Given the description of an element on the screen output the (x, y) to click on. 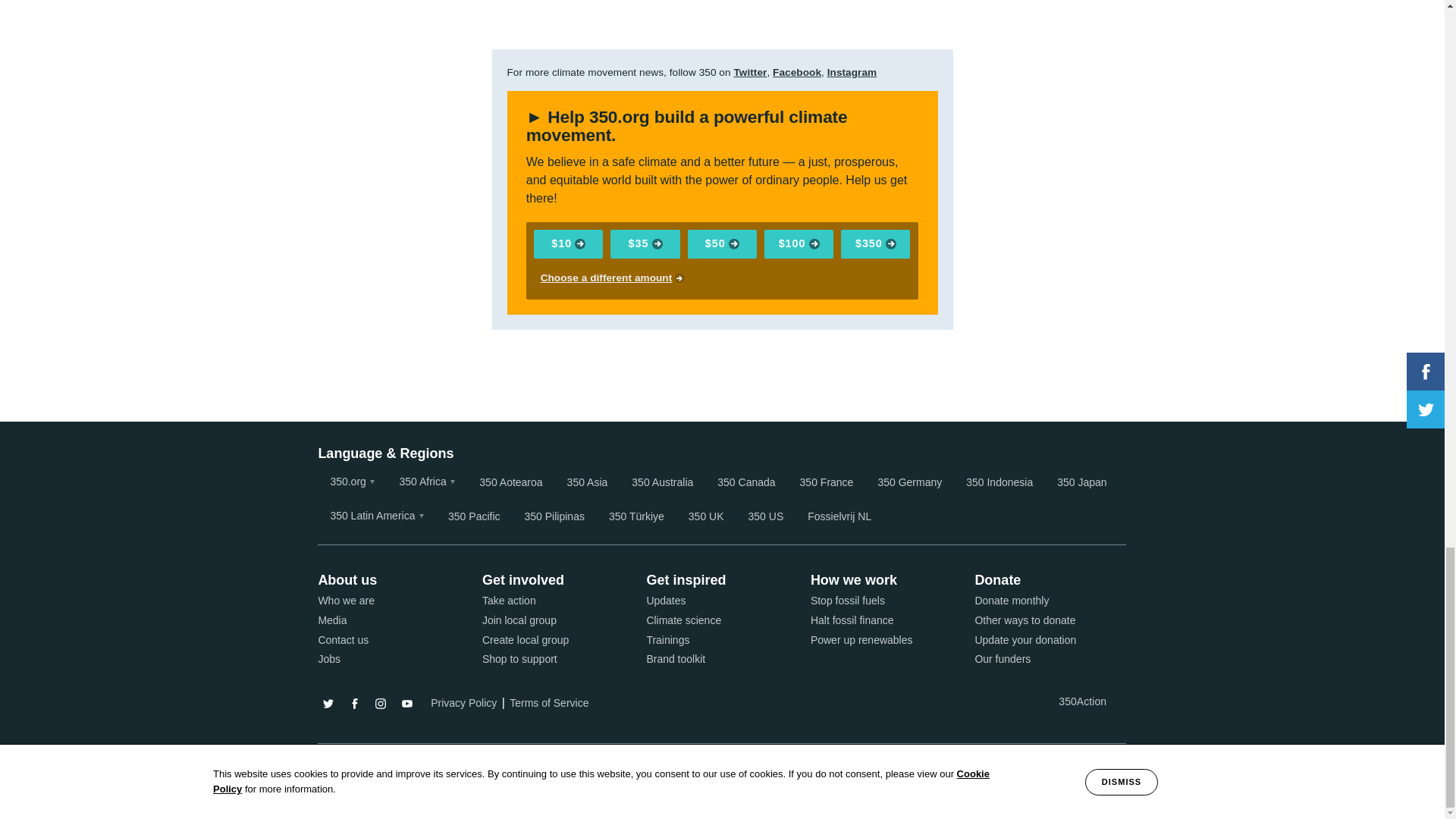
Twitter (750, 71)
Facebook (797, 71)
